Given the description of an element on the screen output the (x, y) to click on. 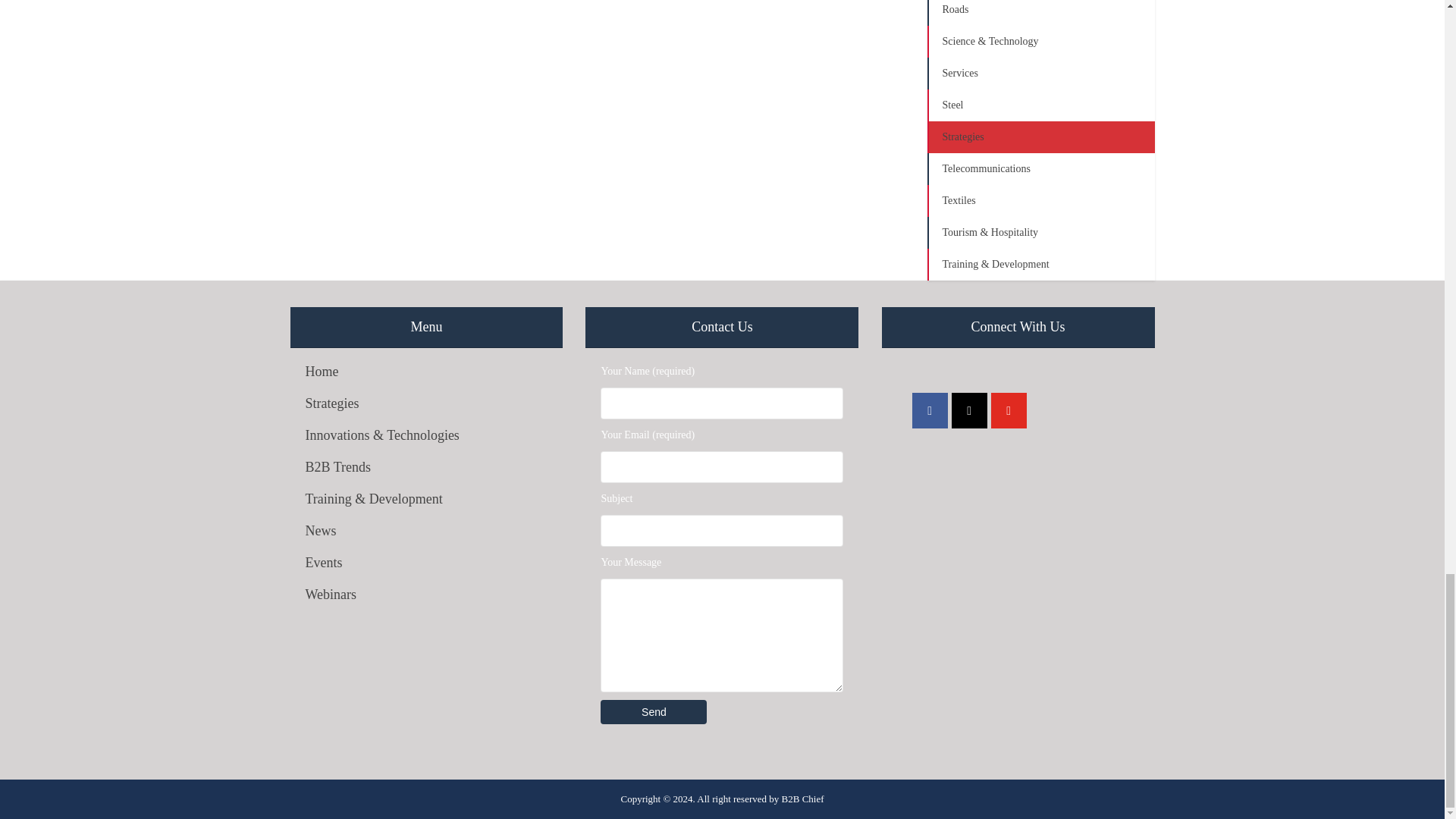
Send (652, 711)
YouTube (1008, 410)
Facebook (929, 410)
Instagram (969, 410)
